Given the description of an element on the screen output the (x, y) to click on. 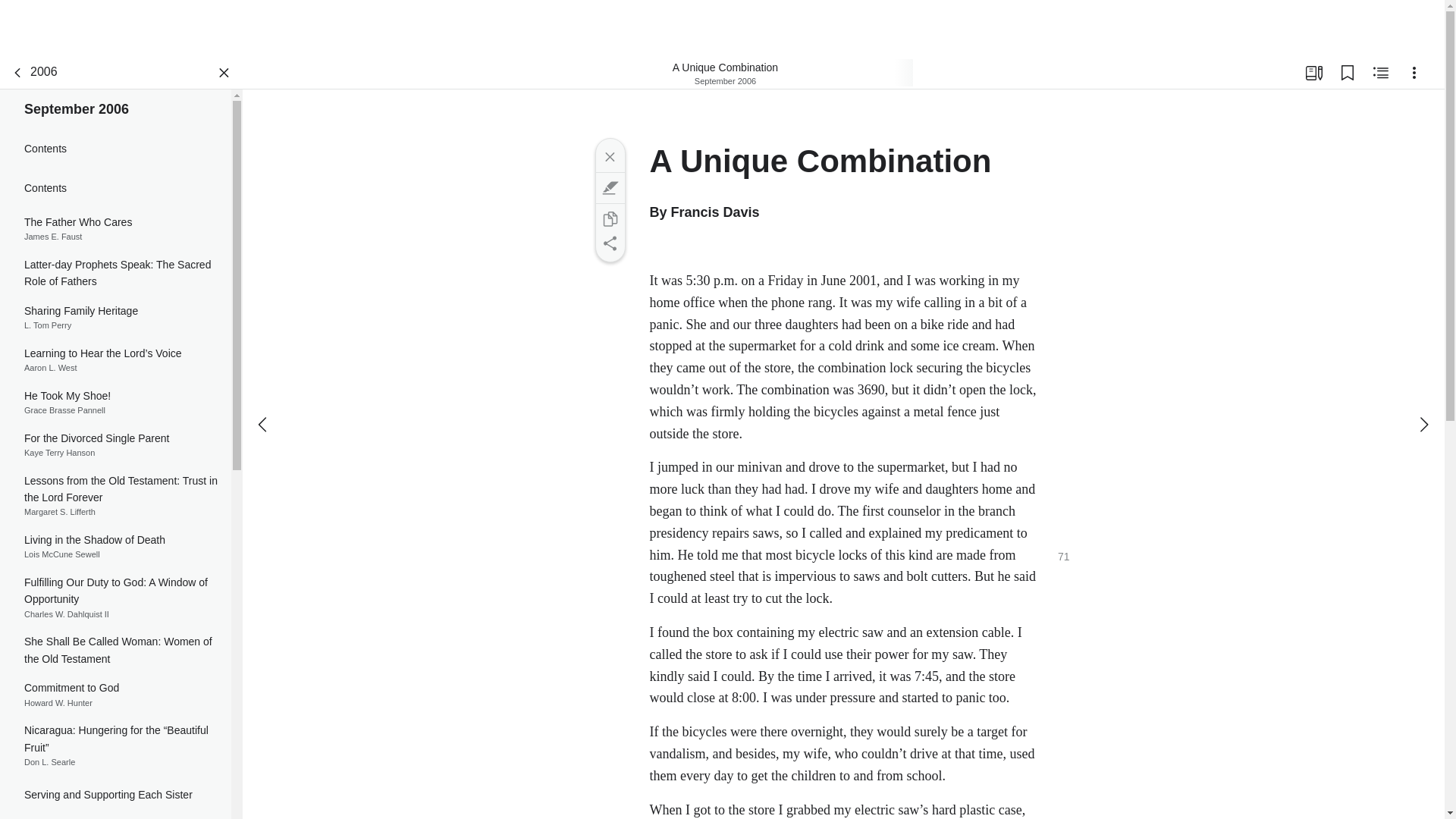
Related Content (1380, 72)
Latter-day Prophets Speak: The Sacred Role of Fathers (115, 273)
Serving and Supporting Each Sister (115, 794)
Close (608, 156)
Mark (608, 187)
Share (608, 242)
